Given the description of an element on the screen output the (x, y) to click on. 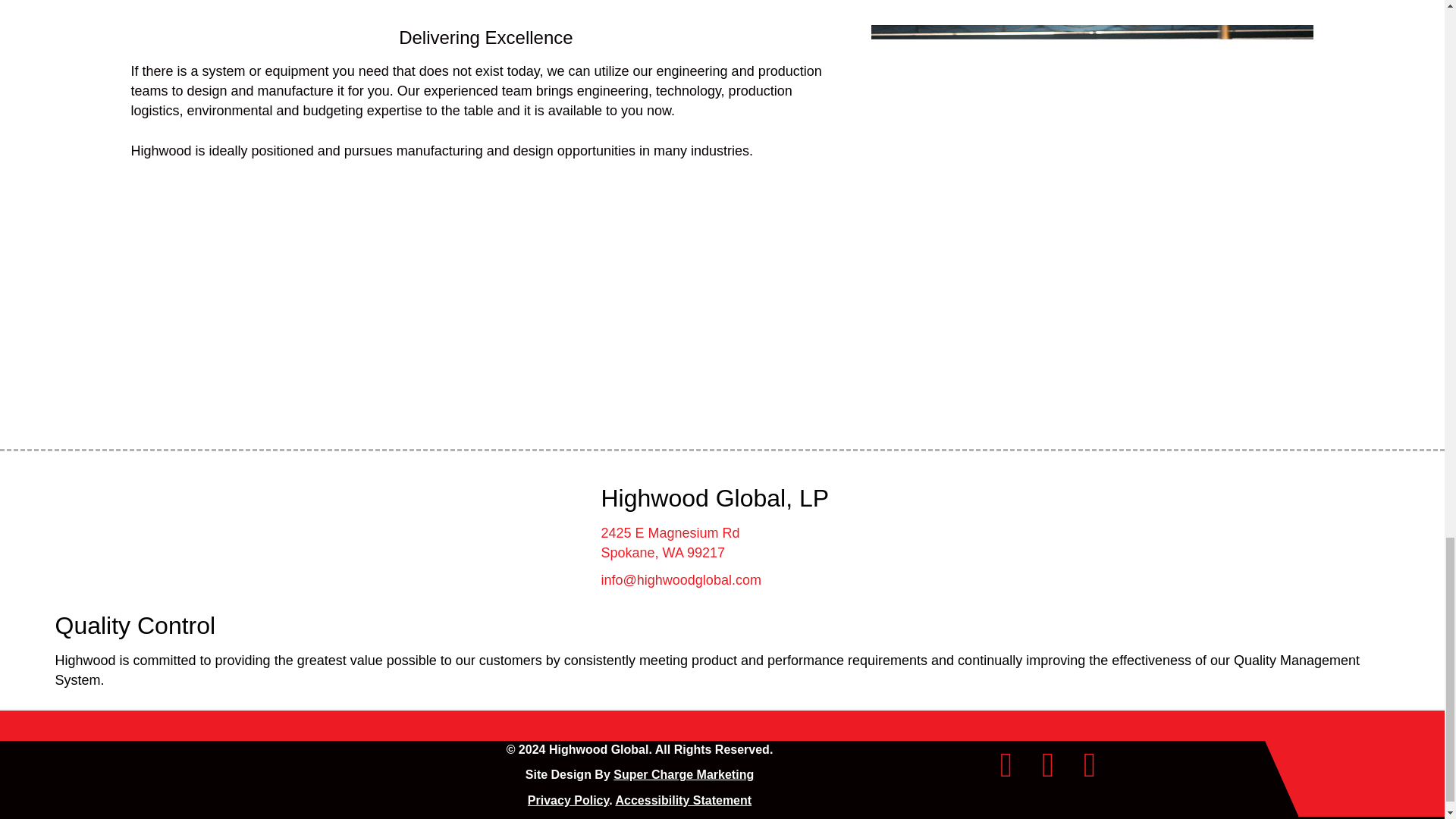
Accessibility Statement (682, 799)
Spokane - Working (1091, 157)
Super Charge Marketing (683, 774)
Spokane, WA 99217 (661, 552)
2425 E Magnesium Rd (669, 532)
Privacy Policy (567, 799)
